Given the description of an element on the screen output the (x, y) to click on. 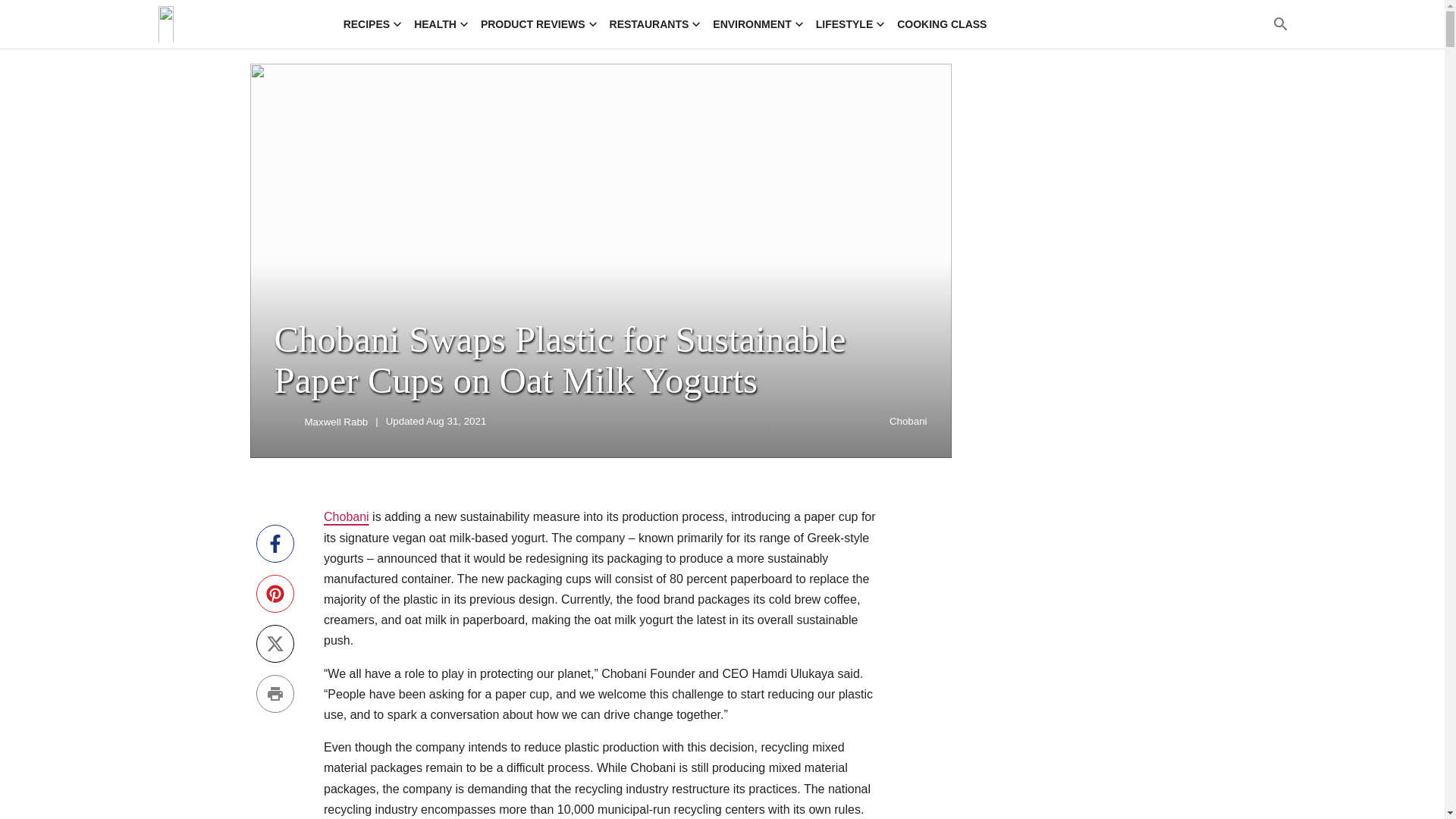
Maxwell Rabb (336, 421)
PRODUCT REVIEWS (539, 24)
ENVIRONMENT (757, 24)
HEALTH (440, 24)
RESTAURANTS (655, 24)
LIFESTYLE (850, 24)
Chobani (346, 516)
RECIPES (372, 24)
Maxwell Rabb (286, 421)
COOKING CLASS (941, 24)
